Given the description of an element on the screen output the (x, y) to click on. 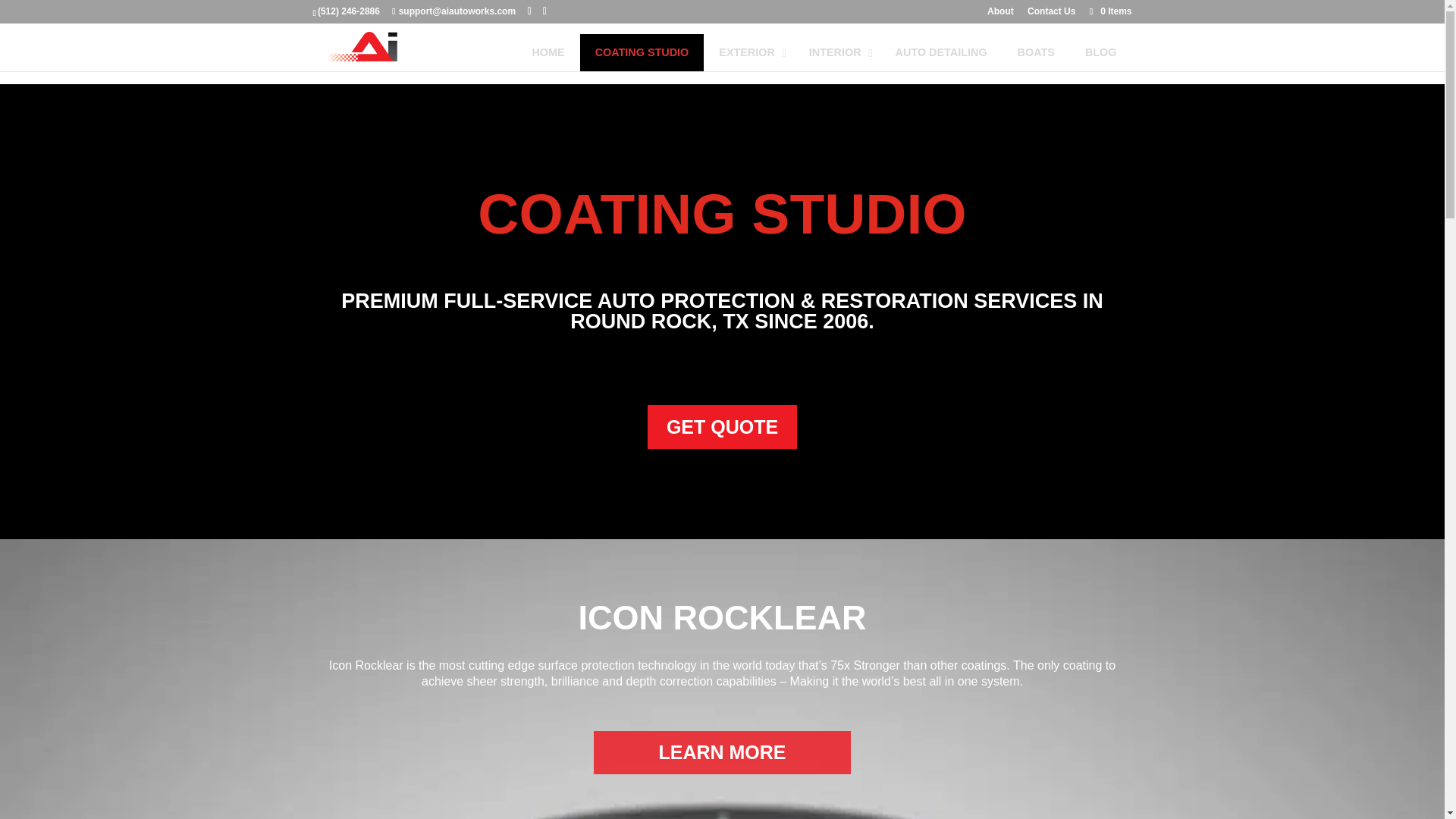
Contact Us (1051, 14)
HOME (547, 52)
About (1000, 14)
BOATS (1036, 52)
BLOG (1101, 52)
AUTO DETAILING (941, 52)
EXTERIOR (748, 52)
INTERIOR (836, 52)
0 Items (1108, 10)
